Given the description of an element on the screen output the (x, y) to click on. 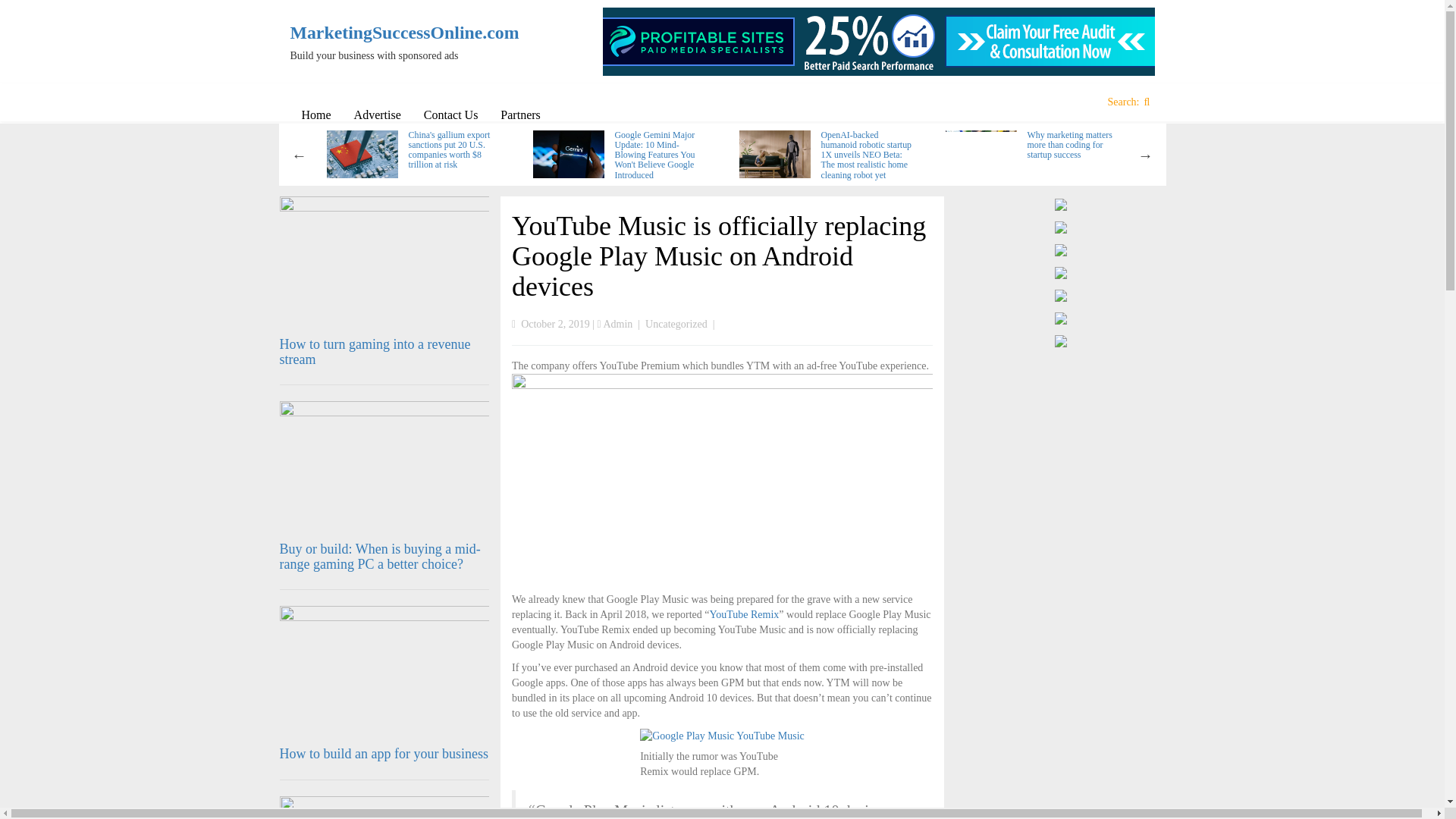
Home (315, 115)
Why marketing matters more than coding for startup success (1069, 144)
Previous (298, 155)
Why marketing matters more than coding for startup success (1069, 144)
Advertise (377, 115)
MarketingSuccessOnline.com (389, 32)
